Given the description of an element on the screen output the (x, y) to click on. 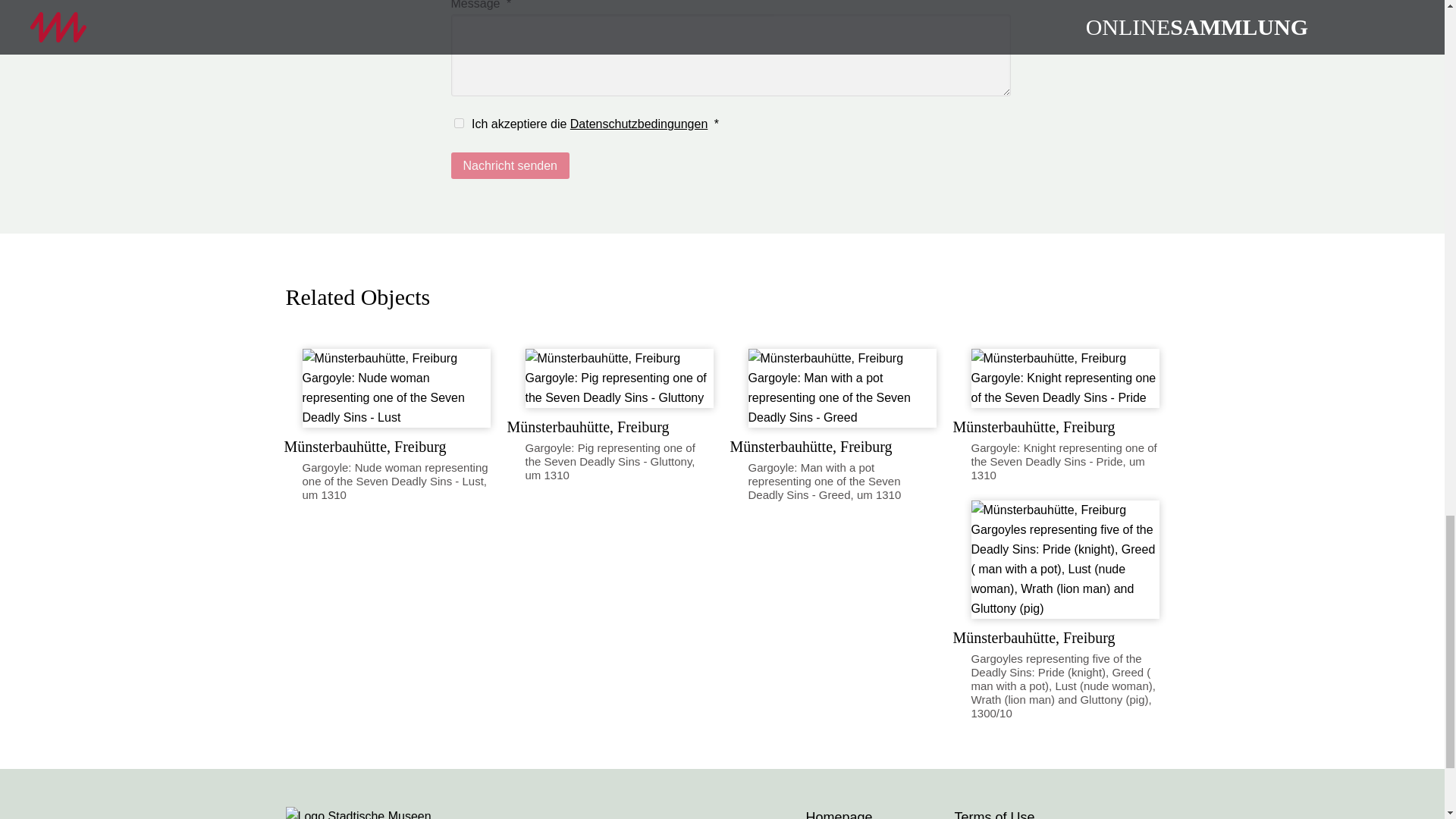
1 (457, 122)
